Given the description of an element on the screen output the (x, y) to click on. 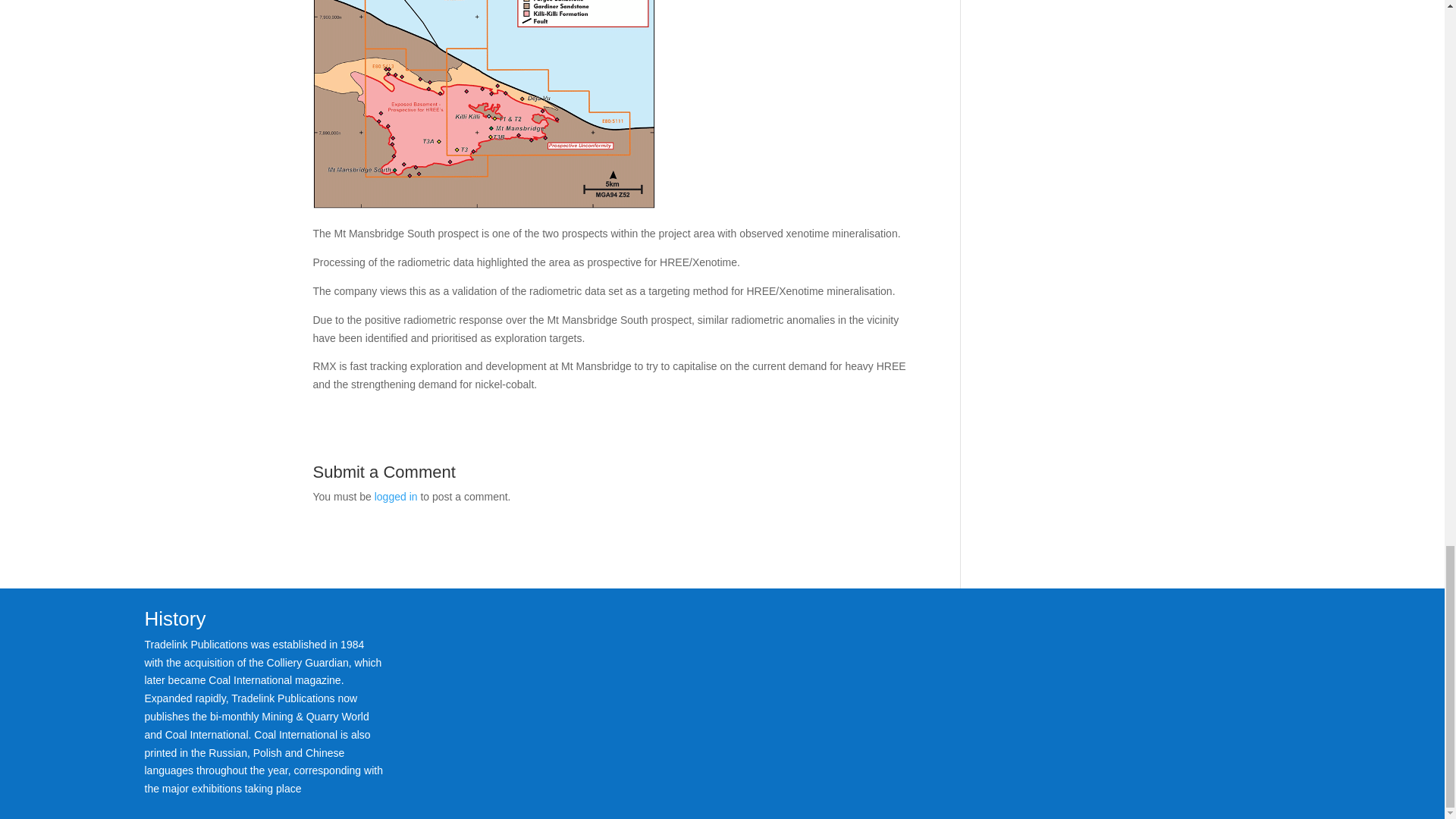
logged in (395, 496)
